Given the description of an element on the screen output the (x, y) to click on. 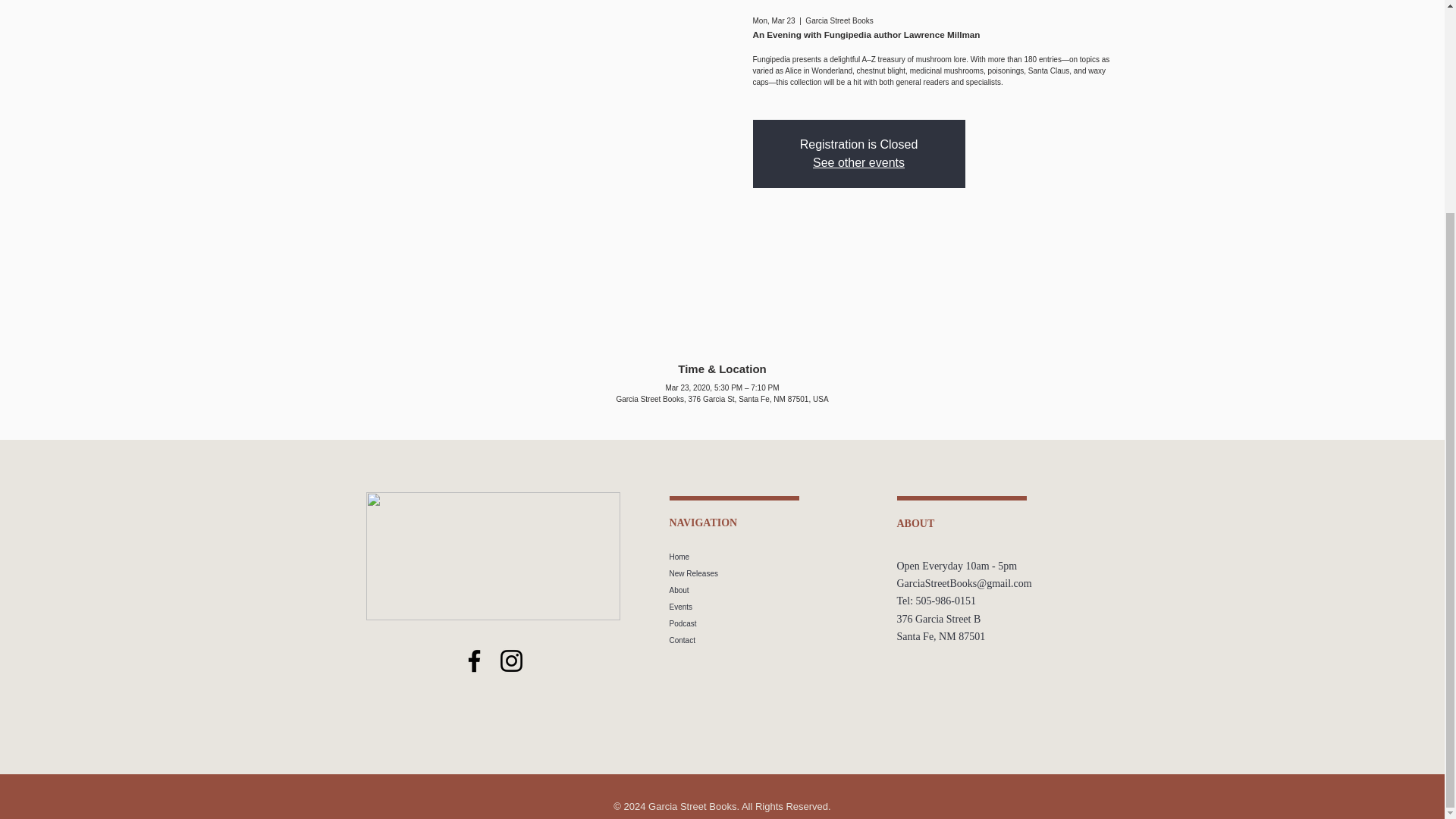
Contact (772, 640)
Podcast (772, 623)
New Releases (772, 573)
Home (772, 556)
About (772, 590)
See other events (858, 162)
Events (772, 606)
